Given the description of an element on the screen output the (x, y) to click on. 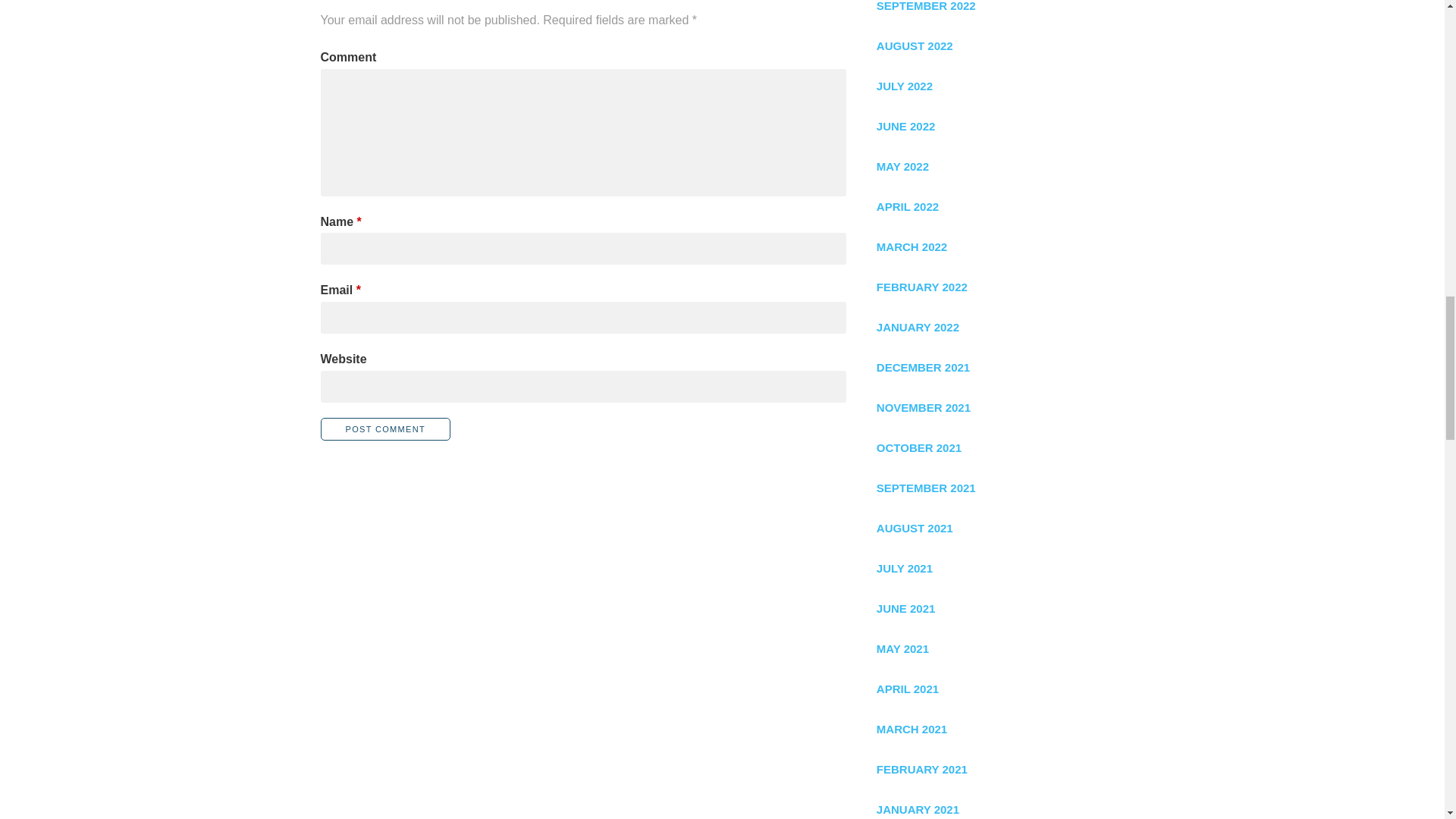
Post Comment (384, 428)
Post Comment (384, 428)
